Given the description of an element on the screen output the (x, y) to click on. 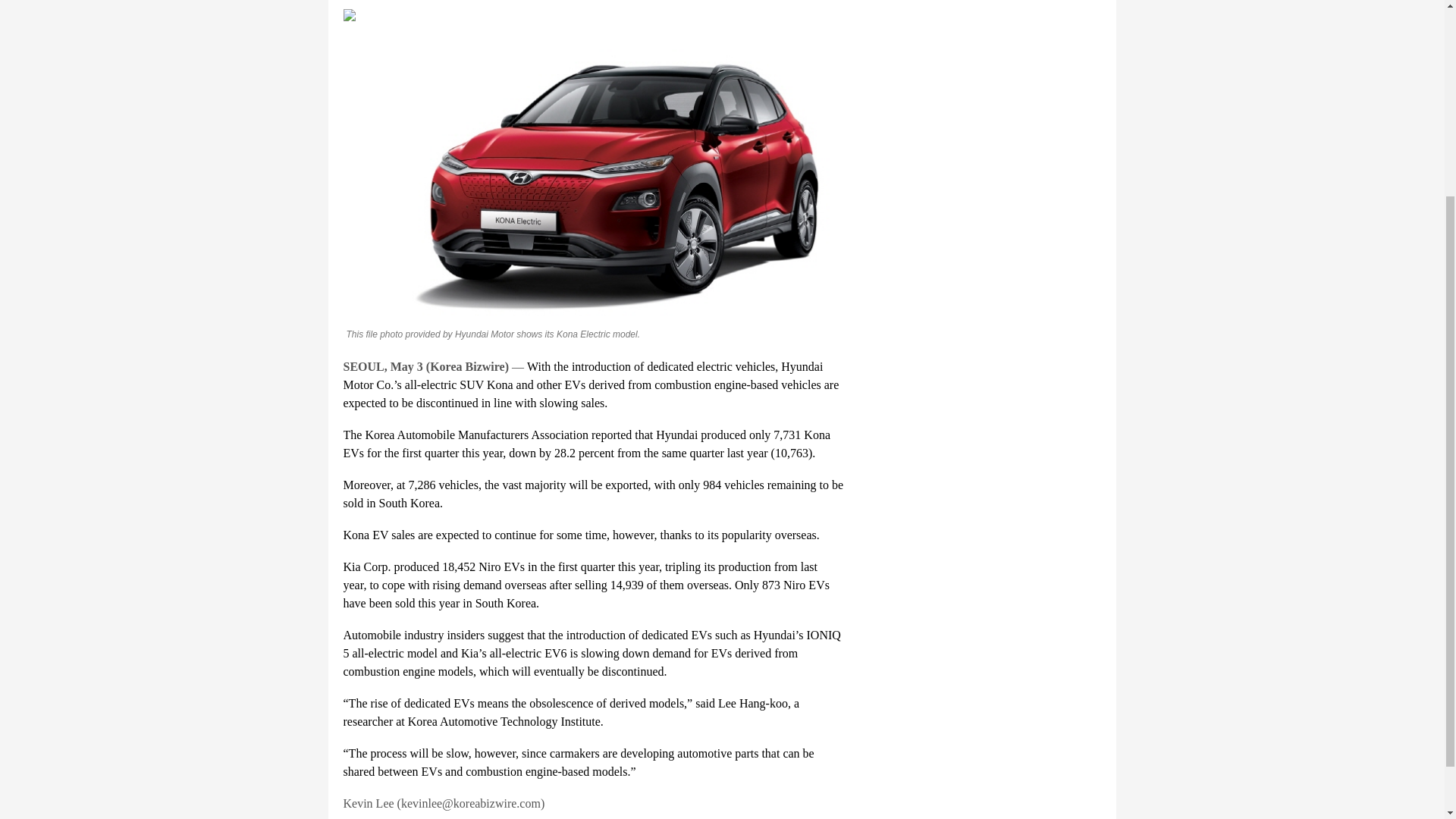
Print page (592, 15)
